Given the description of an element on the screen output the (x, y) to click on. 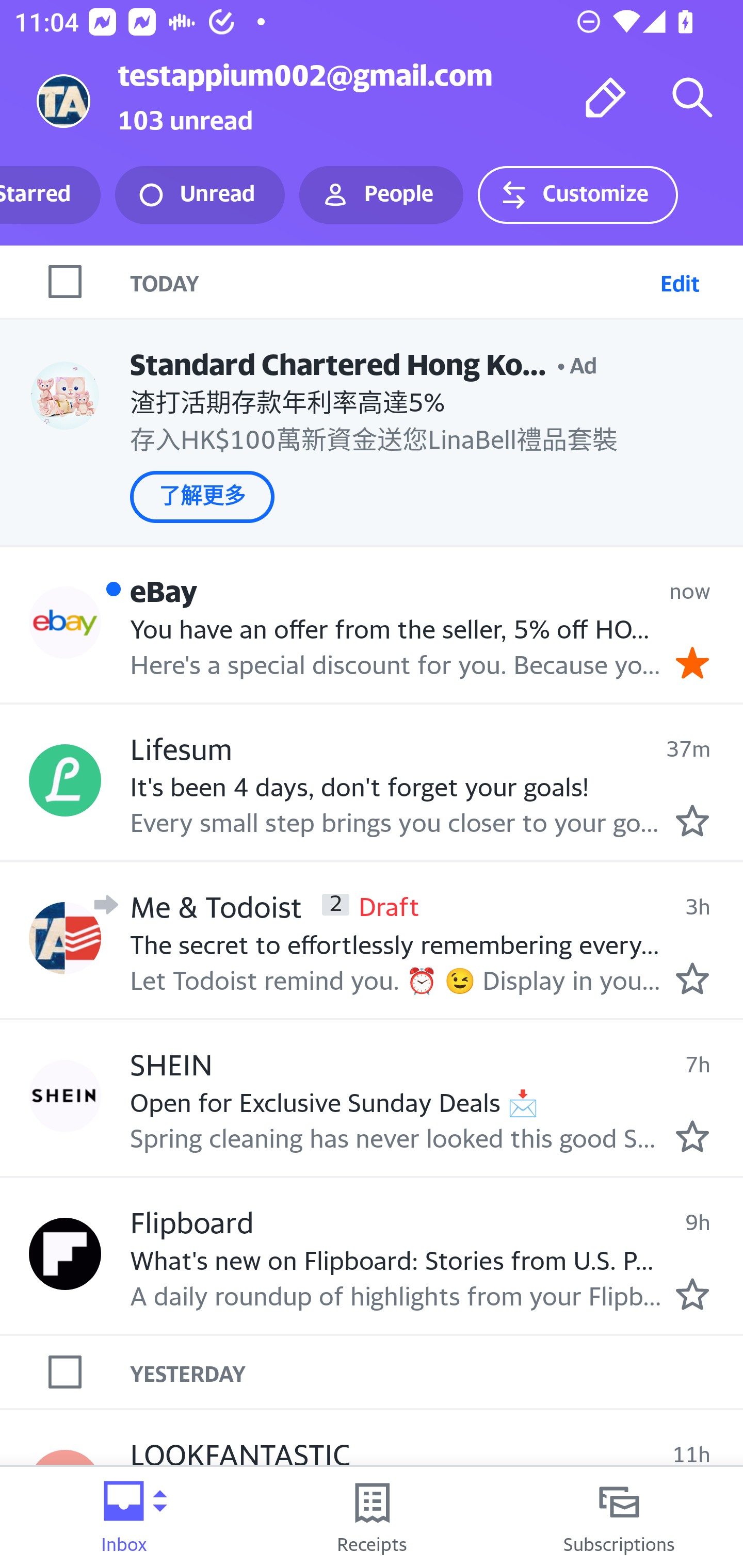
Compose (605, 97)
Search mail (692, 97)
Unread (199, 195)
People (381, 195)
Customize (577, 195)
TODAY (391, 281)
Edit Select emails (679, 281)
Profile
eBay (64, 622)
Remove star. (692, 662)
Profile
Lifesum (64, 780)
Mark as starred. (692, 820)
Profile
Me & Todoist (64, 937)
Mark as starred. (692, 978)
Profile
SHEIN (64, 1095)
Mark as starred. (692, 1135)
Profile
Flipboard (64, 1254)
Mark as starred. (692, 1294)
YESTERDAY (436, 1371)
Inbox Folder picker (123, 1517)
Receipts (371, 1517)
Subscriptions (619, 1517)
